Given the description of an element on the screen output the (x, y) to click on. 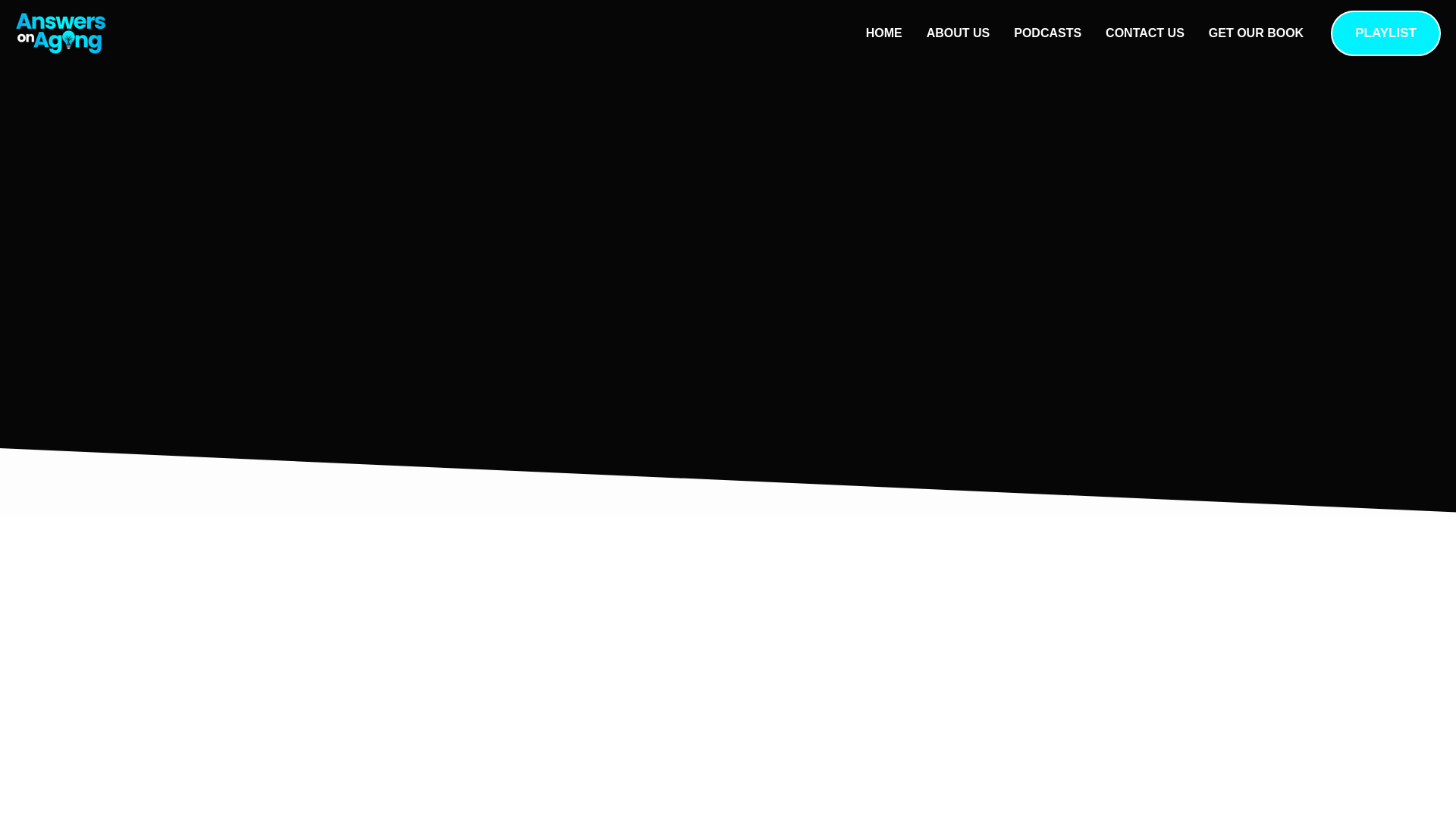
HOME (883, 32)
PODCASTS (1047, 32)
ABOUT US (958, 32)
GET OUR BOOK (1256, 32)
CONTACT US (1144, 32)
PLAYLIST (1385, 33)
